Given the description of an element on the screen output the (x, y) to click on. 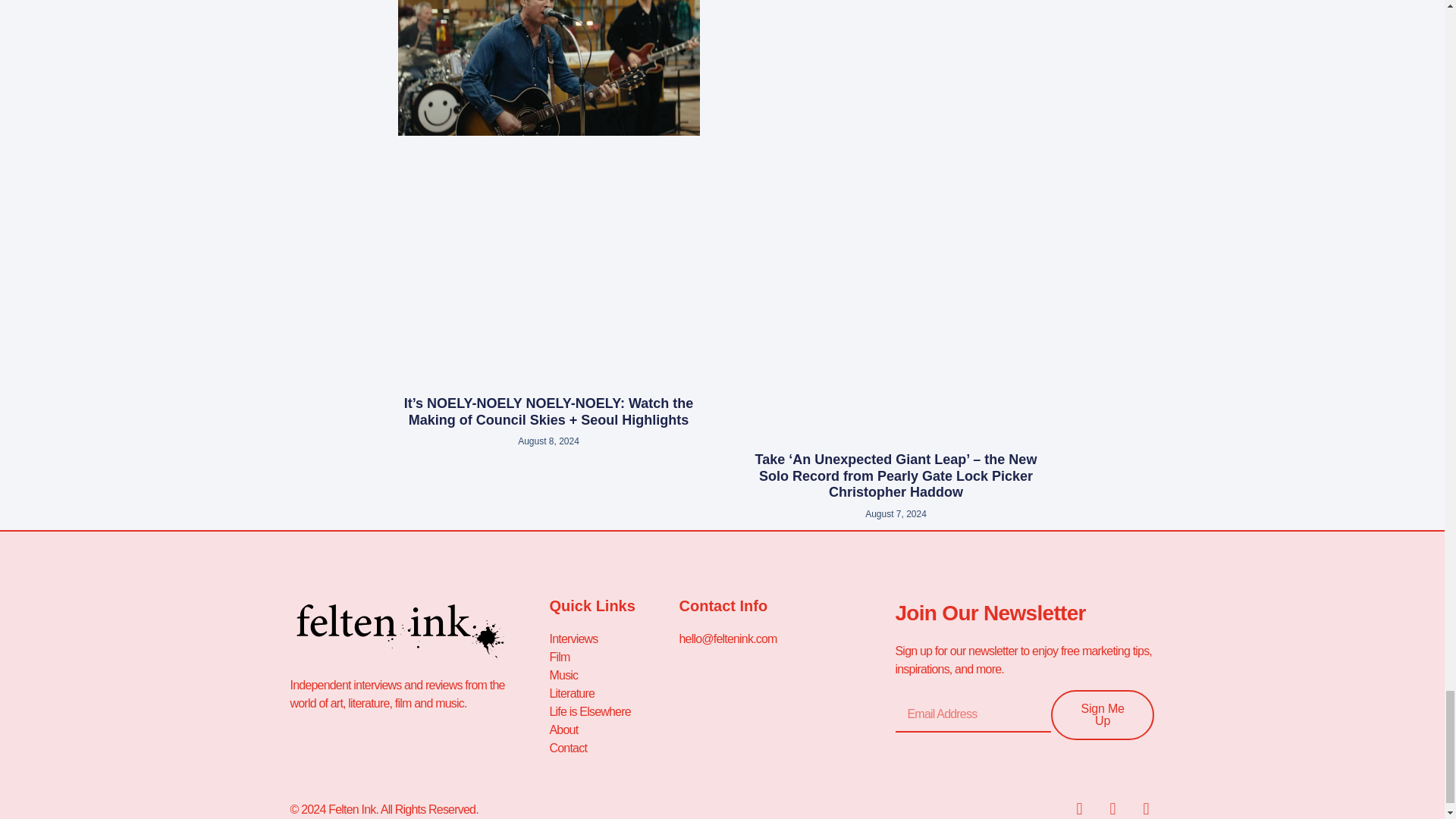
Contact (613, 748)
Film (613, 657)
About (613, 730)
Literature (613, 693)
Music (613, 675)
Interviews (613, 638)
Life is Elsewhere (613, 711)
